Given the description of an element on the screen output the (x, y) to click on. 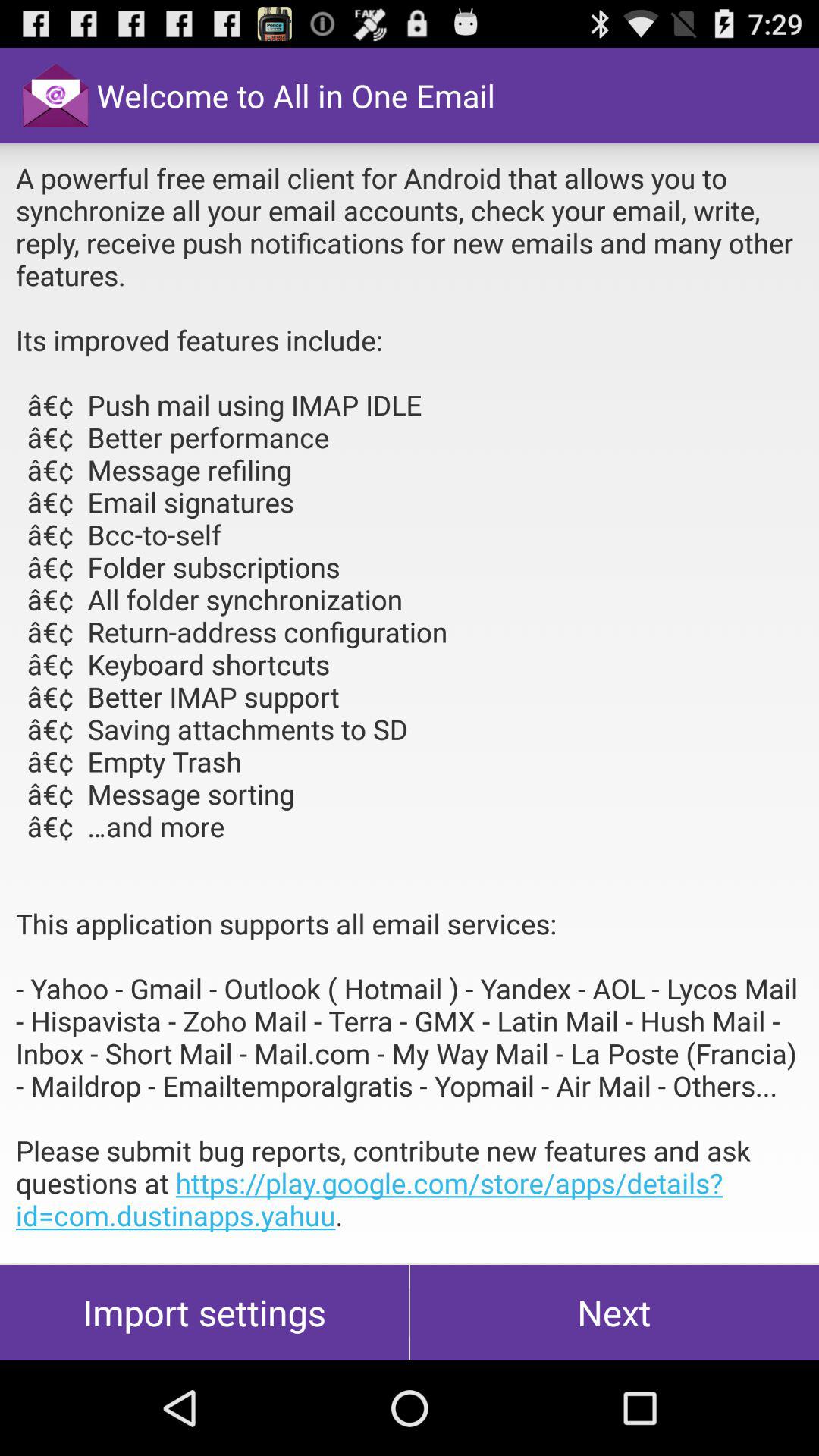
choose a powerful free app (409, 702)
